Given the description of an element on the screen output the (x, y) to click on. 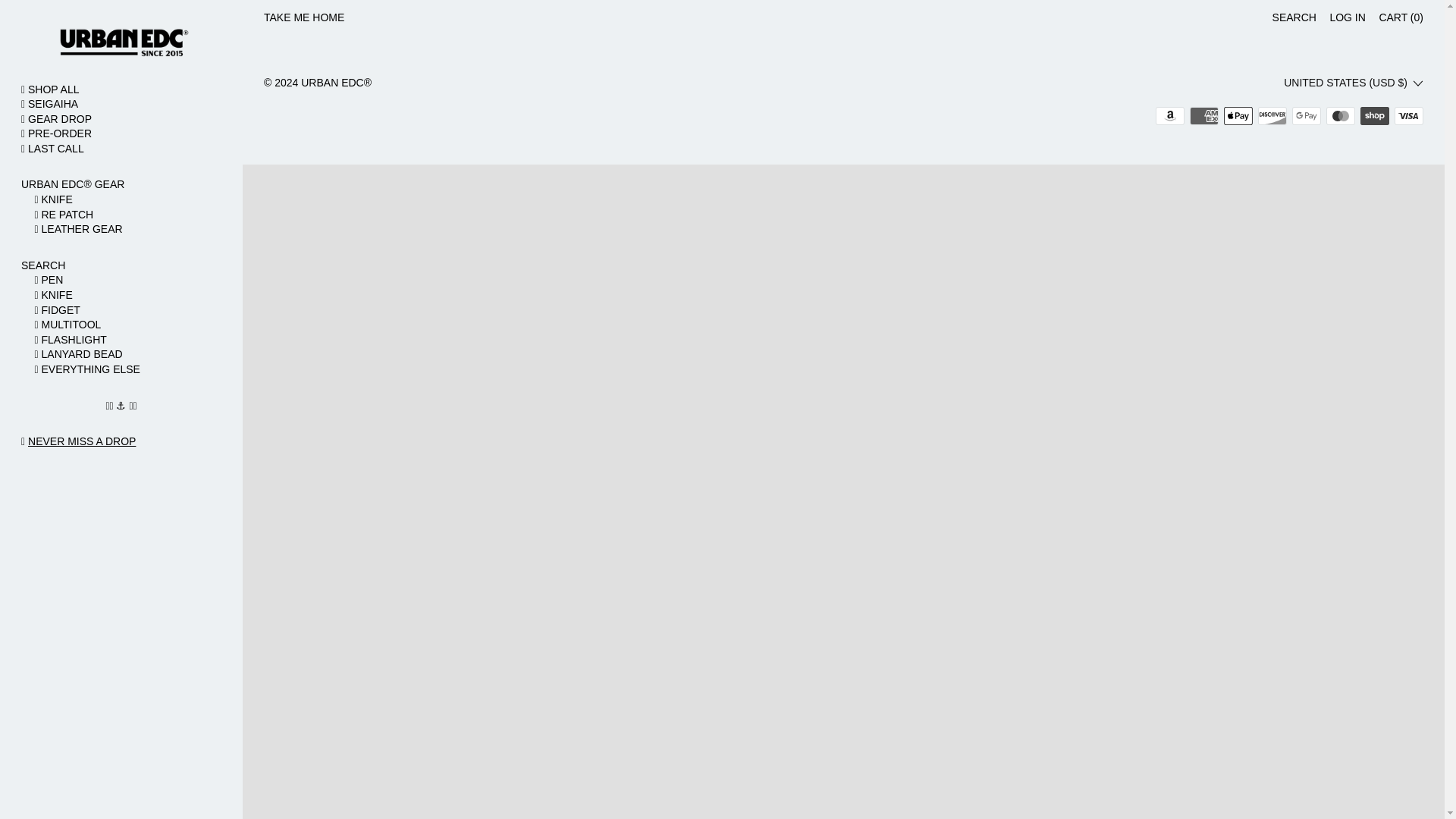
NEVER MISS A DROP (81, 440)
SEARCH (121, 265)
TAKE ME HOME (303, 17)
SEARCH (1294, 17)
